Given the description of an element on the screen output the (x, y) to click on. 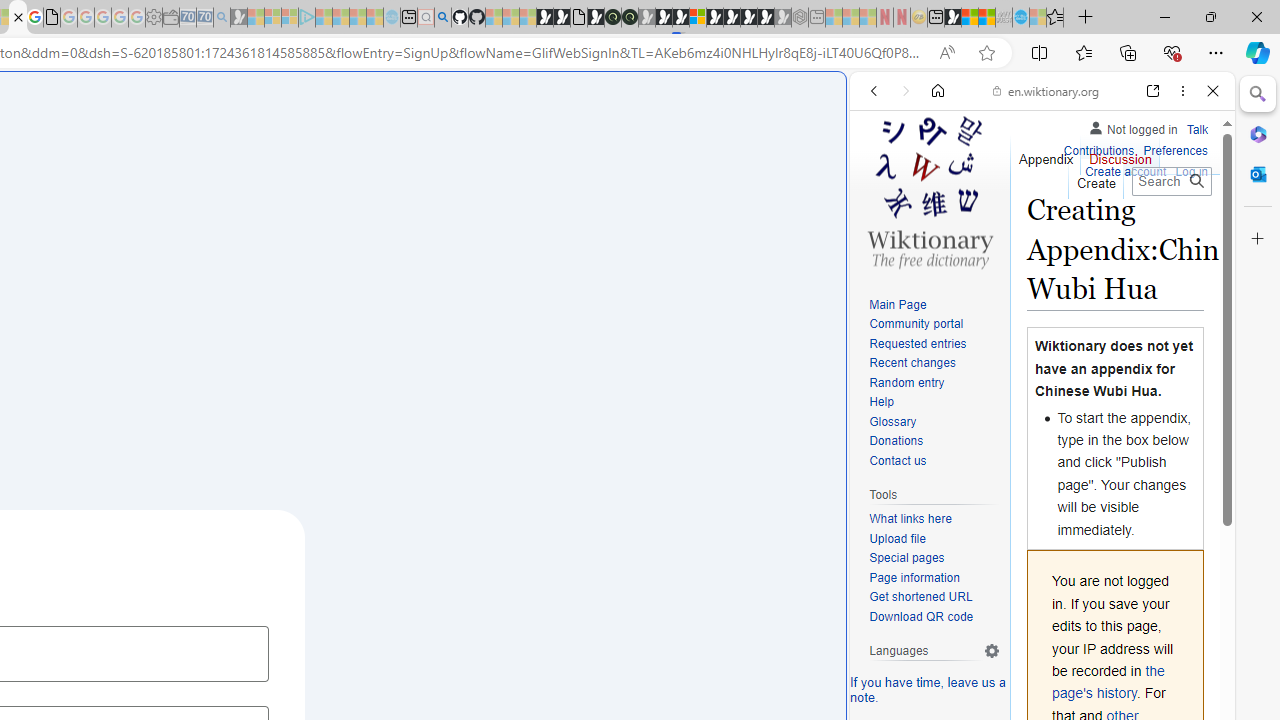
Community portal (916, 323)
Glossary (934, 421)
Donations (934, 442)
Language settings (992, 651)
Contributions (1098, 151)
Upload file (934, 539)
